Given the description of an element on the screen output the (x, y) to click on. 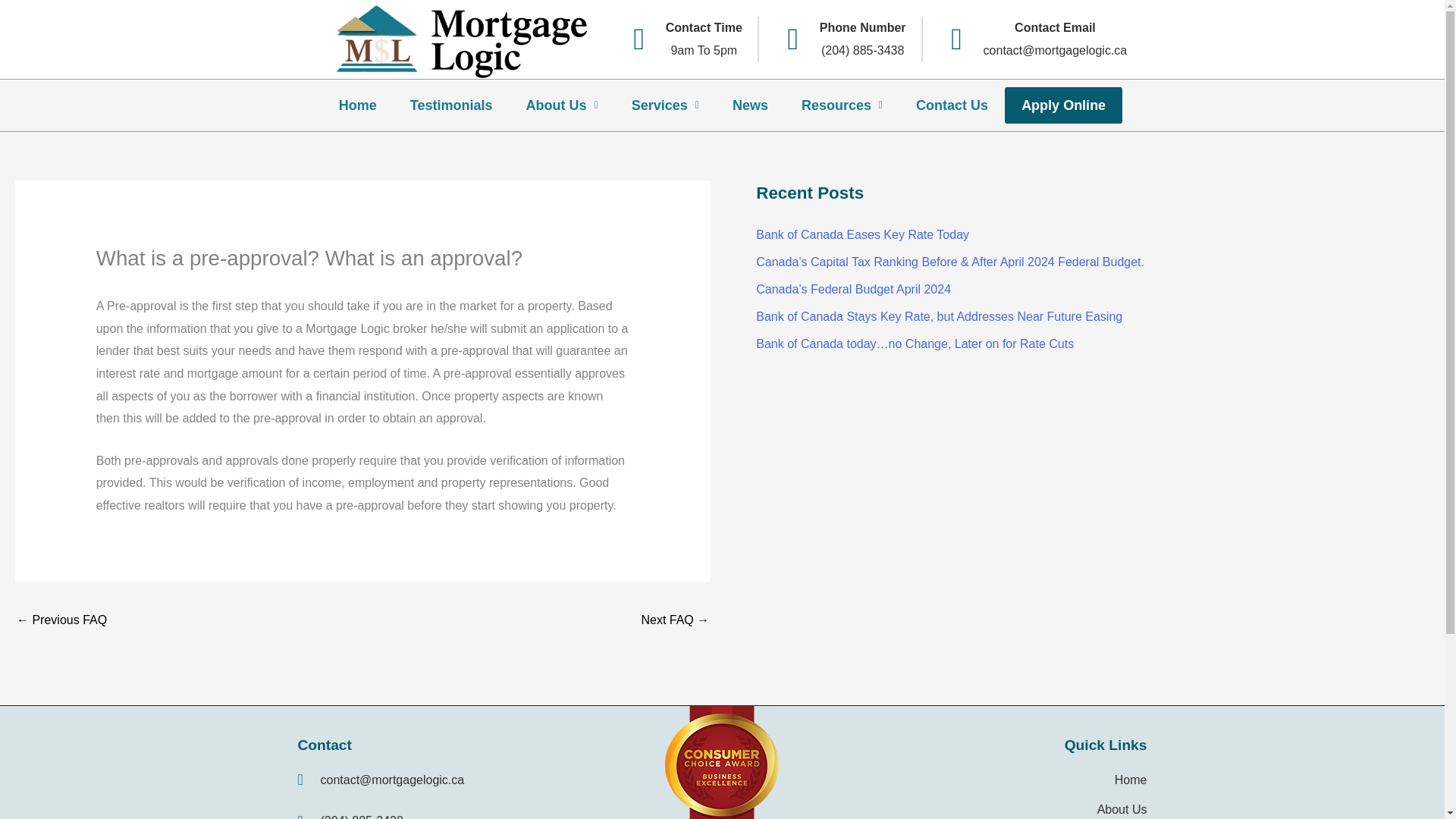
Testimonials (451, 104)
News (750, 104)
About Us (561, 104)
Services (665, 104)
Home inspection? Should I spend money on one? (61, 621)
Home (357, 104)
Resources (681, 38)
